Given the description of an element on the screen output the (x, y) to click on. 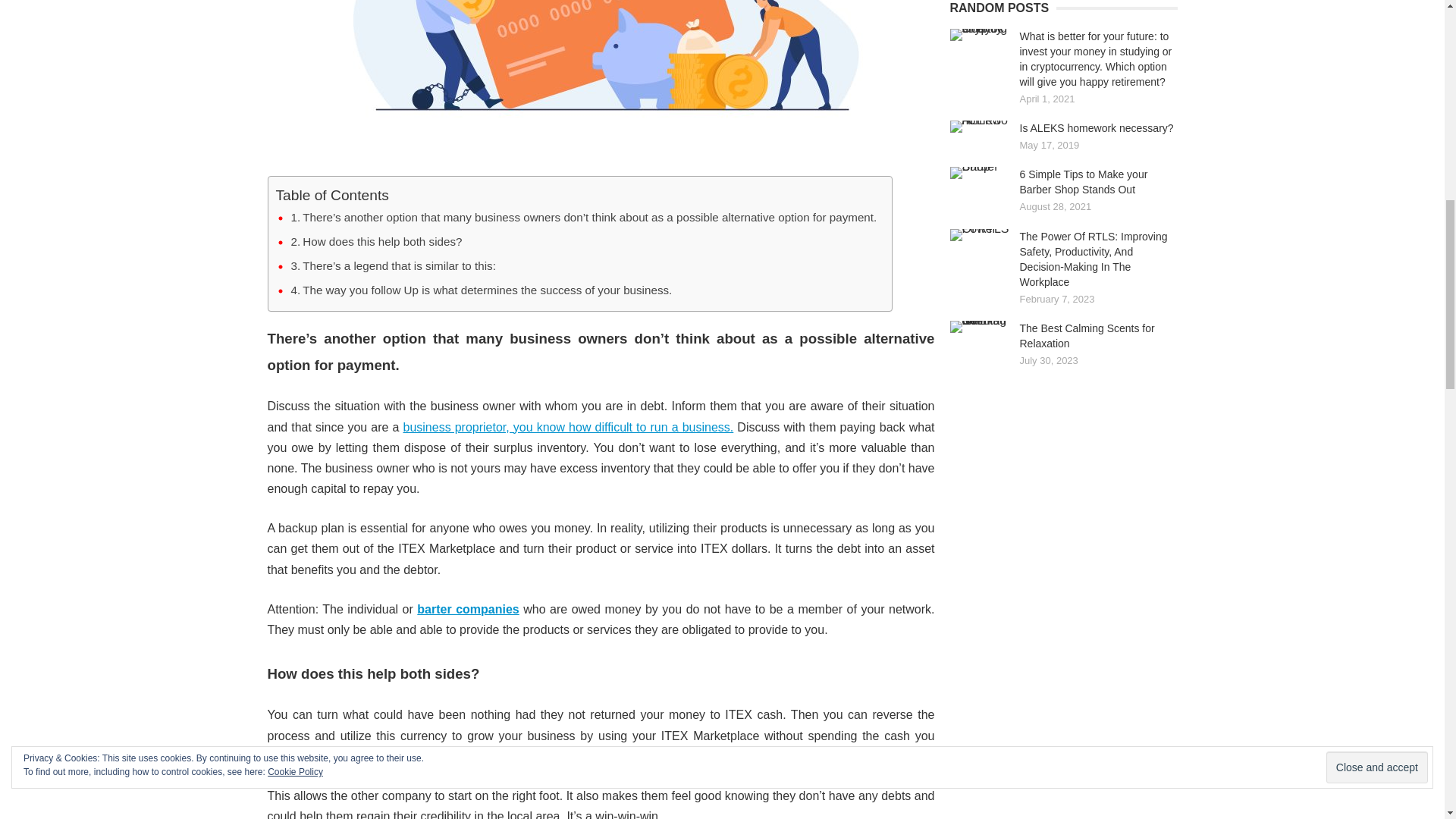
Alternatives To Debt Collection (601, 78)
How does this help both sides? (377, 241)
